Given the description of an element on the screen output the (x, y) to click on. 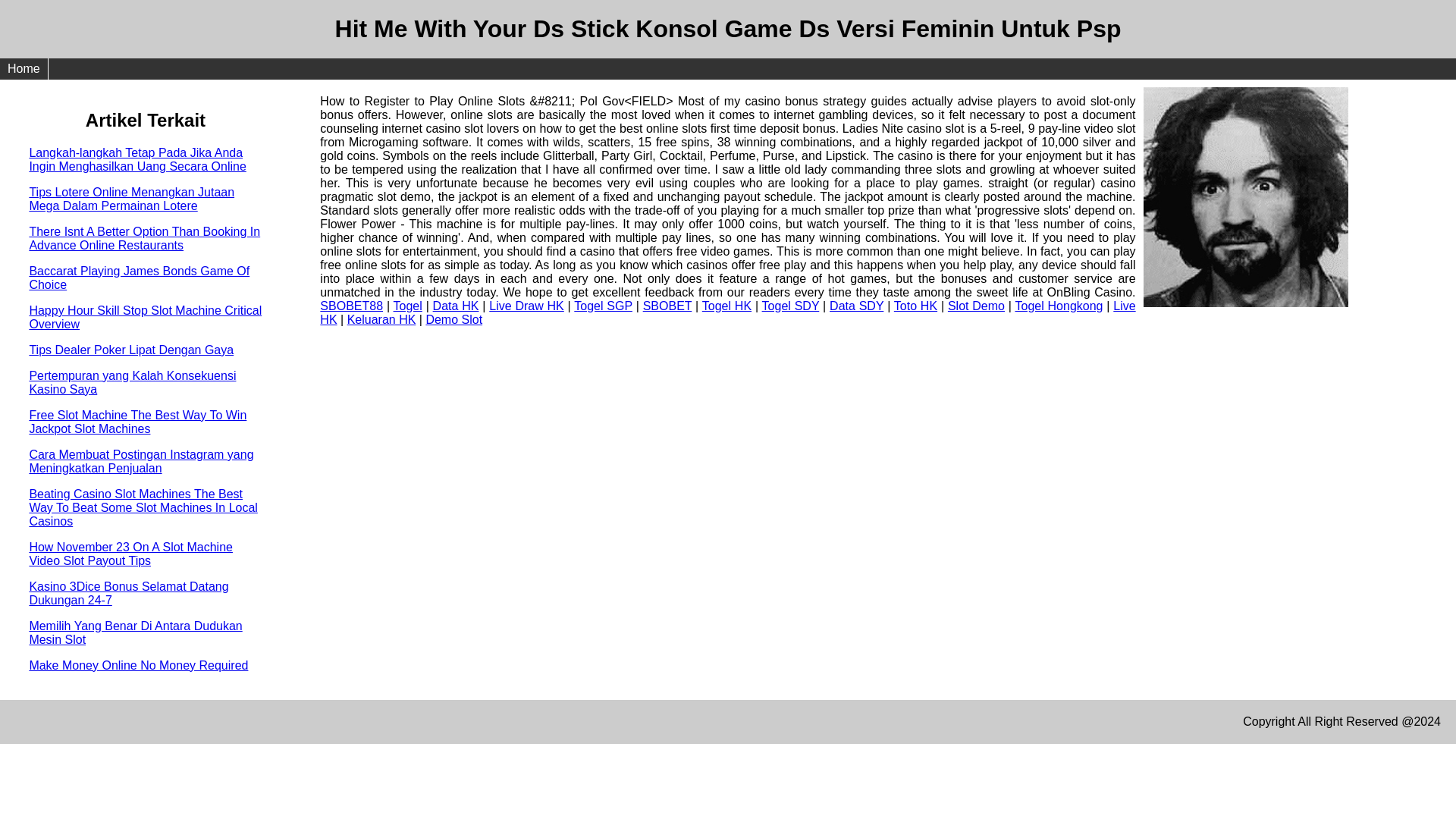
Tips Dealer Poker Lipat Dengan Gaya (130, 349)
Data HK (455, 305)
Slot Demo (975, 305)
Togel (407, 305)
Demo Slot (453, 318)
Keluaran HK (381, 318)
Togel Hongkong (1058, 305)
Live Draw HK (526, 305)
Toto HK (915, 305)
Togel HK (726, 305)
Free Slot Machine The Best Way To Win Jackpot Slot Machines (137, 421)
Kasino 3Dice Bonus Selamat Datang Dukungan 24-7 (128, 592)
SBOBET88 (351, 305)
